Given the description of an element on the screen output the (x, y) to click on. 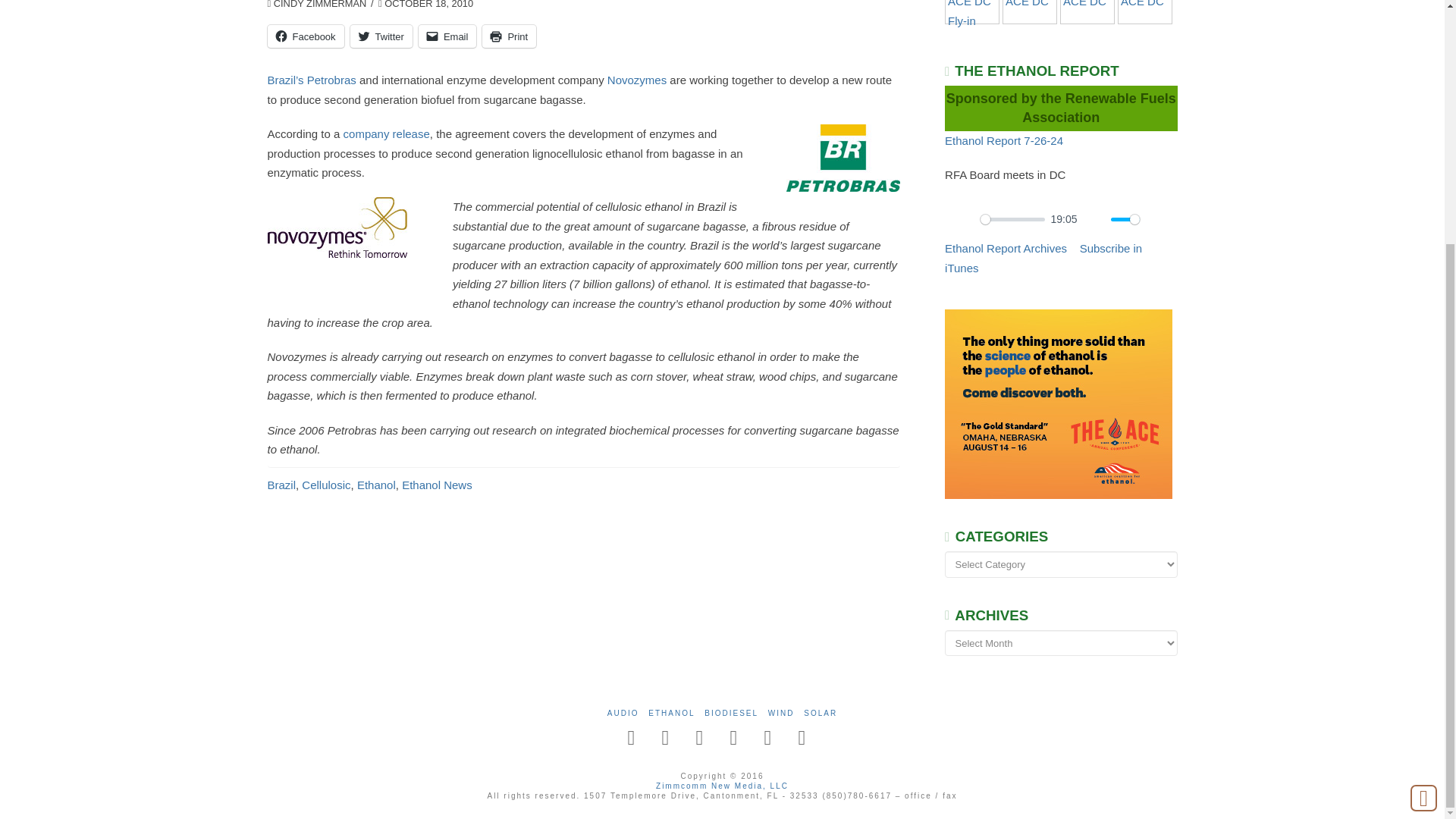
Brazil (280, 484)
Click to print (508, 36)
Email (448, 36)
Facebook (304, 36)
Twitter (381, 36)
1 (1125, 219)
Ethanol (376, 484)
Cellulosic (325, 484)
0 (1012, 219)
Ethanol News (436, 484)
Click to email a link to a friend (448, 36)
Click to share on Twitter (381, 36)
Novozymes (636, 79)
Print (508, 36)
company release (386, 133)
